Given the description of an element on the screen output the (x, y) to click on. 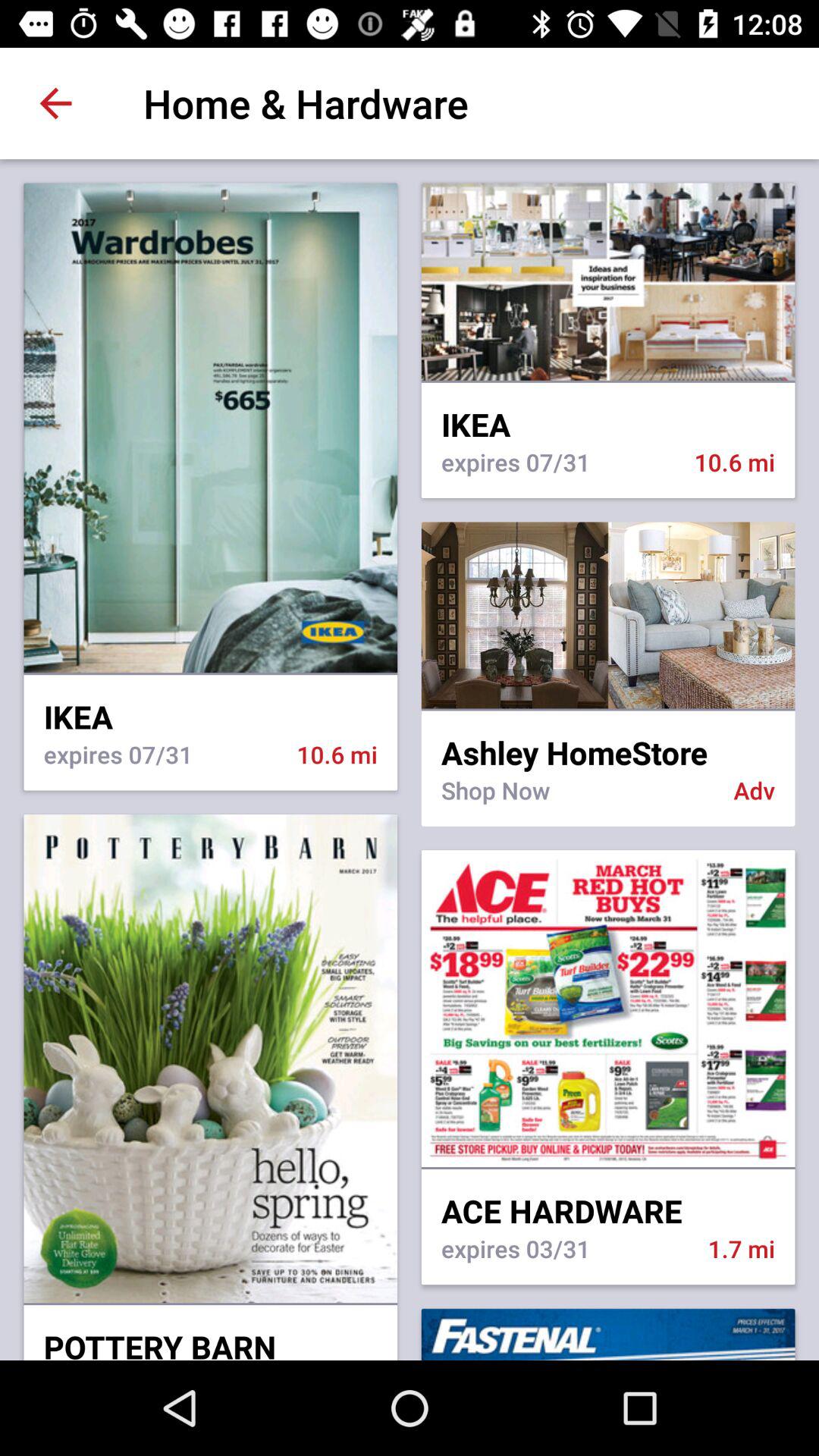
launch icon to the right of ikea (608, 709)
